Given the description of an element on the screen output the (x, y) to click on. 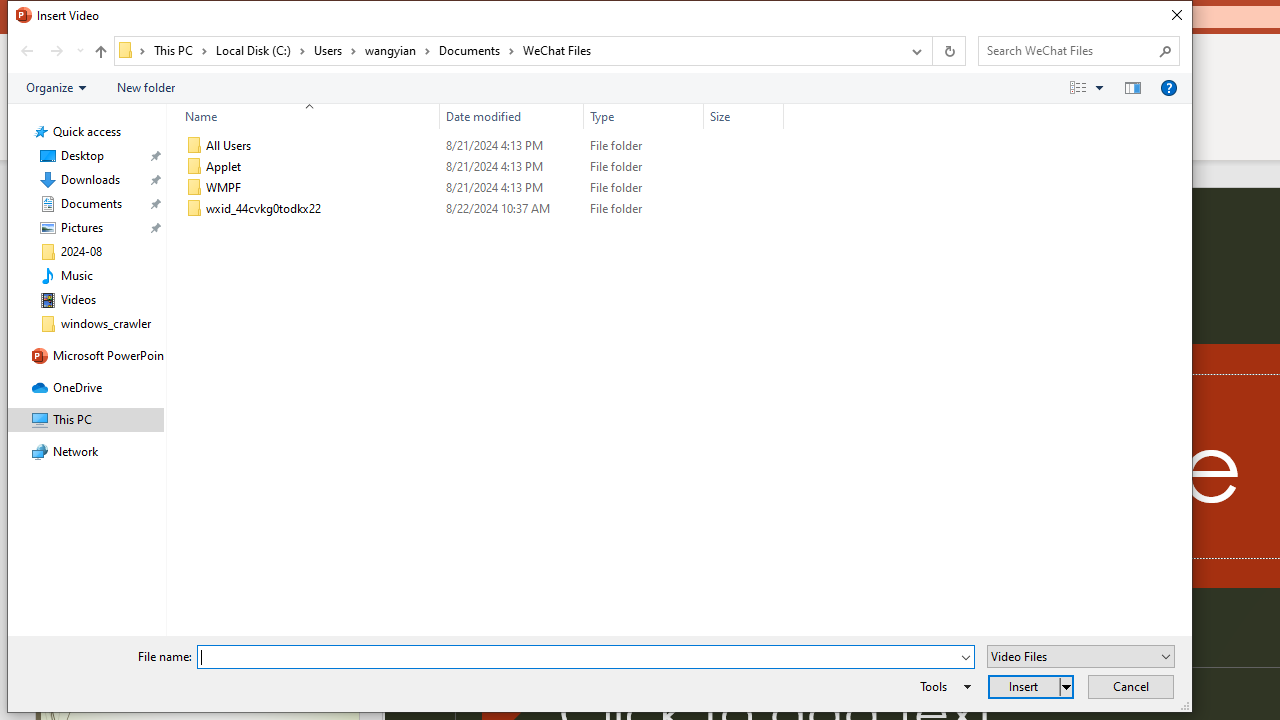
This PC (180, 50)
Refresh "WeChat Files" (F5) (948, 51)
Navigation buttons (50, 51)
WMPF (480, 187)
Cancel (1130, 686)
Name (303, 115)
Up to "Documents" (Alt + Up Arrow) (100, 52)
Address band toolbar (931, 51)
Recent locations (79, 51)
Type (643, 209)
